Given the description of an element on the screen output the (x, y) to click on. 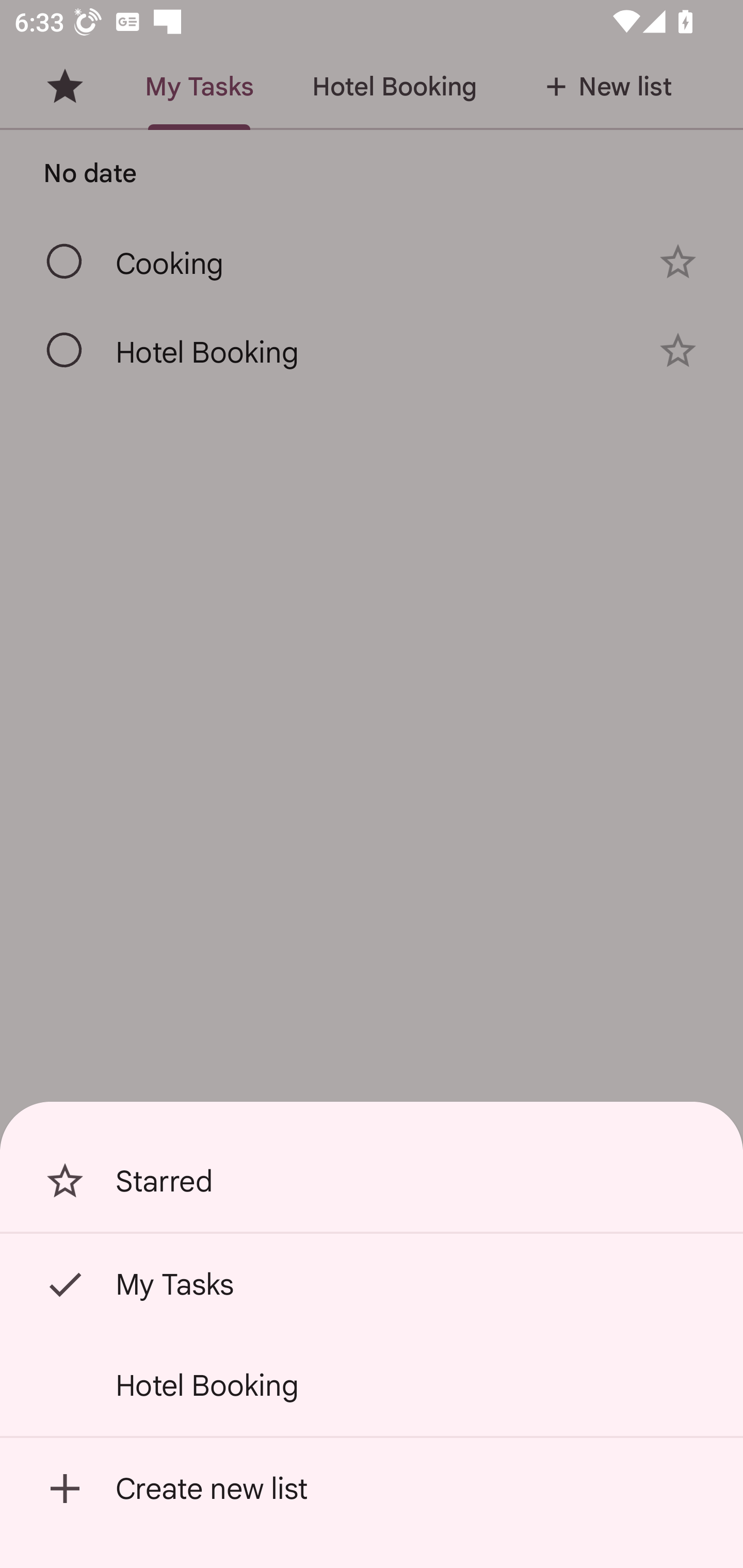
Starred (371, 1181)
My Tasks (371, 1284)
Hotel Booking (371, 1385)
Create new list (371, 1488)
